Given the description of an element on the screen output the (x, y) to click on. 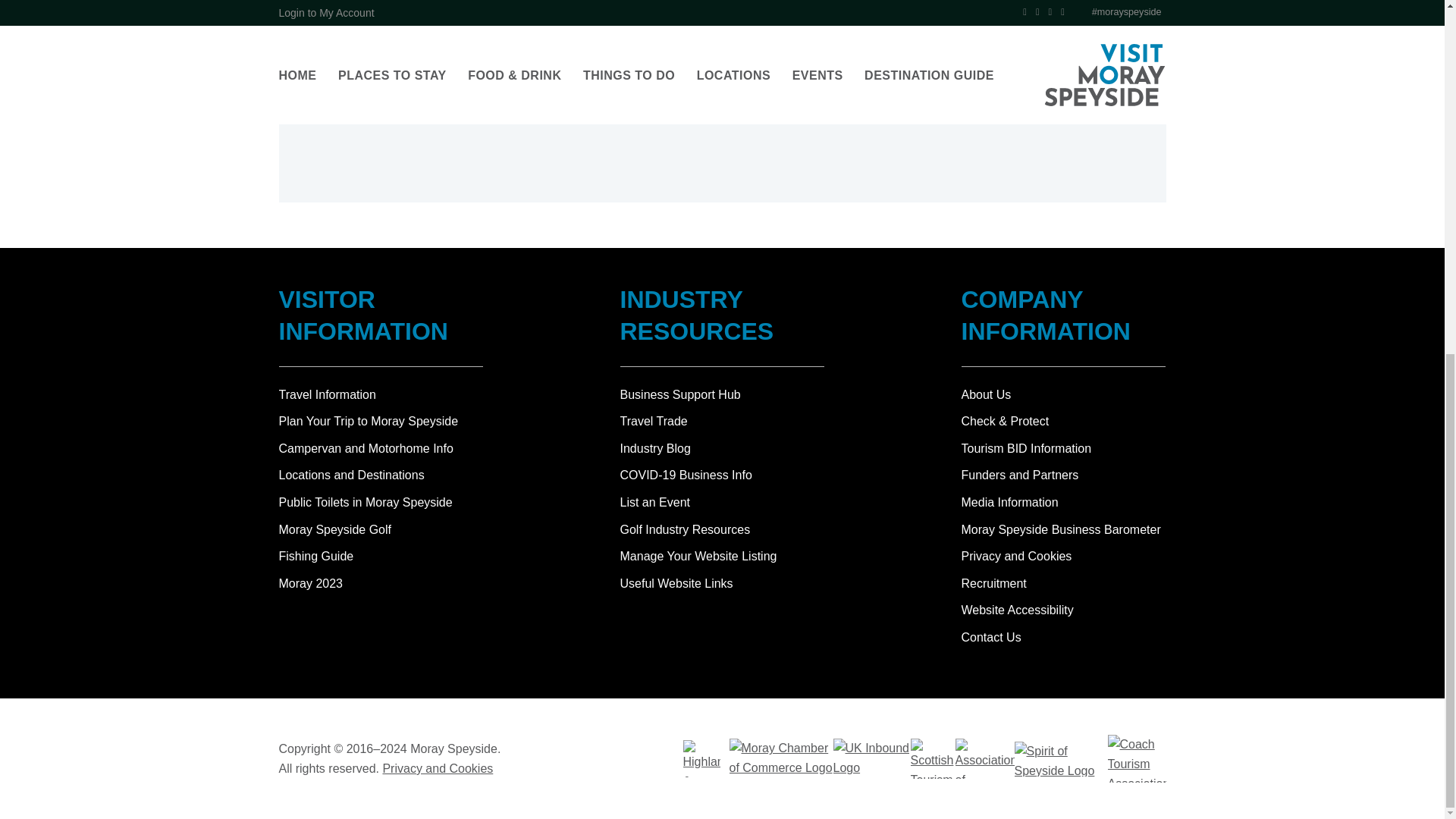
List an Event (655, 502)
Travel Trade (653, 420)
Fishing Guide (381, 556)
Website (327, 65)
COVID-19 Business Info (686, 474)
Useful Website Links (676, 583)
Business Support Hub (680, 394)
Funders and Partners (1019, 474)
Travel Information (381, 394)
About Us (985, 394)
